Given the description of an element on the screen output the (x, y) to click on. 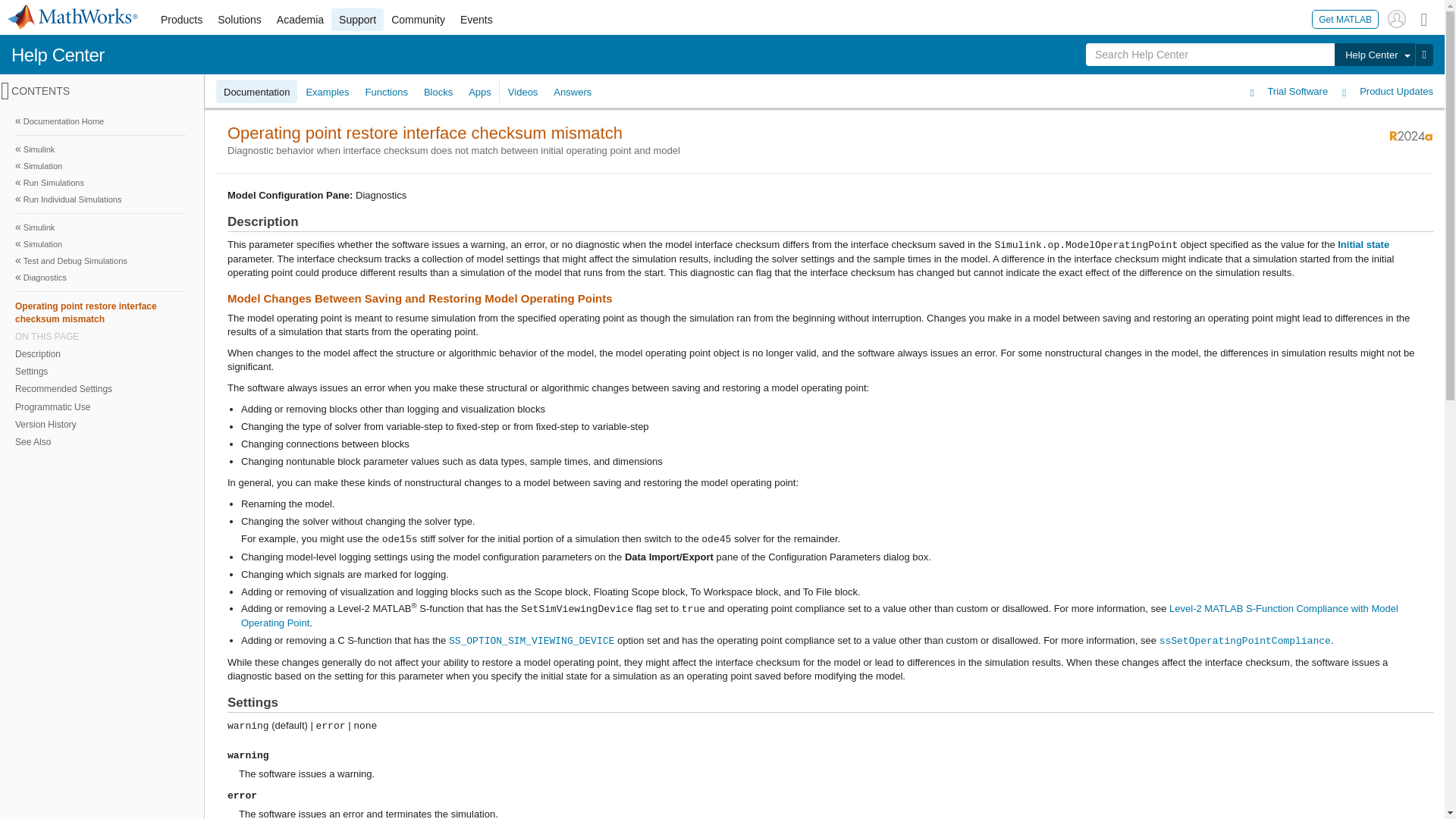
Academia (300, 19)
Community (418, 19)
Solutions (239, 19)
Matrix Menu (1423, 18)
Operating point restore interface checksum mismatch (100, 311)
Products (180, 19)
ON THIS PAGE (100, 336)
Support (357, 19)
Get MATLAB (1344, 18)
Events (476, 19)
Sign In to Your MathWorks Account (1396, 18)
